Given the description of an element on the screen output the (x, y) to click on. 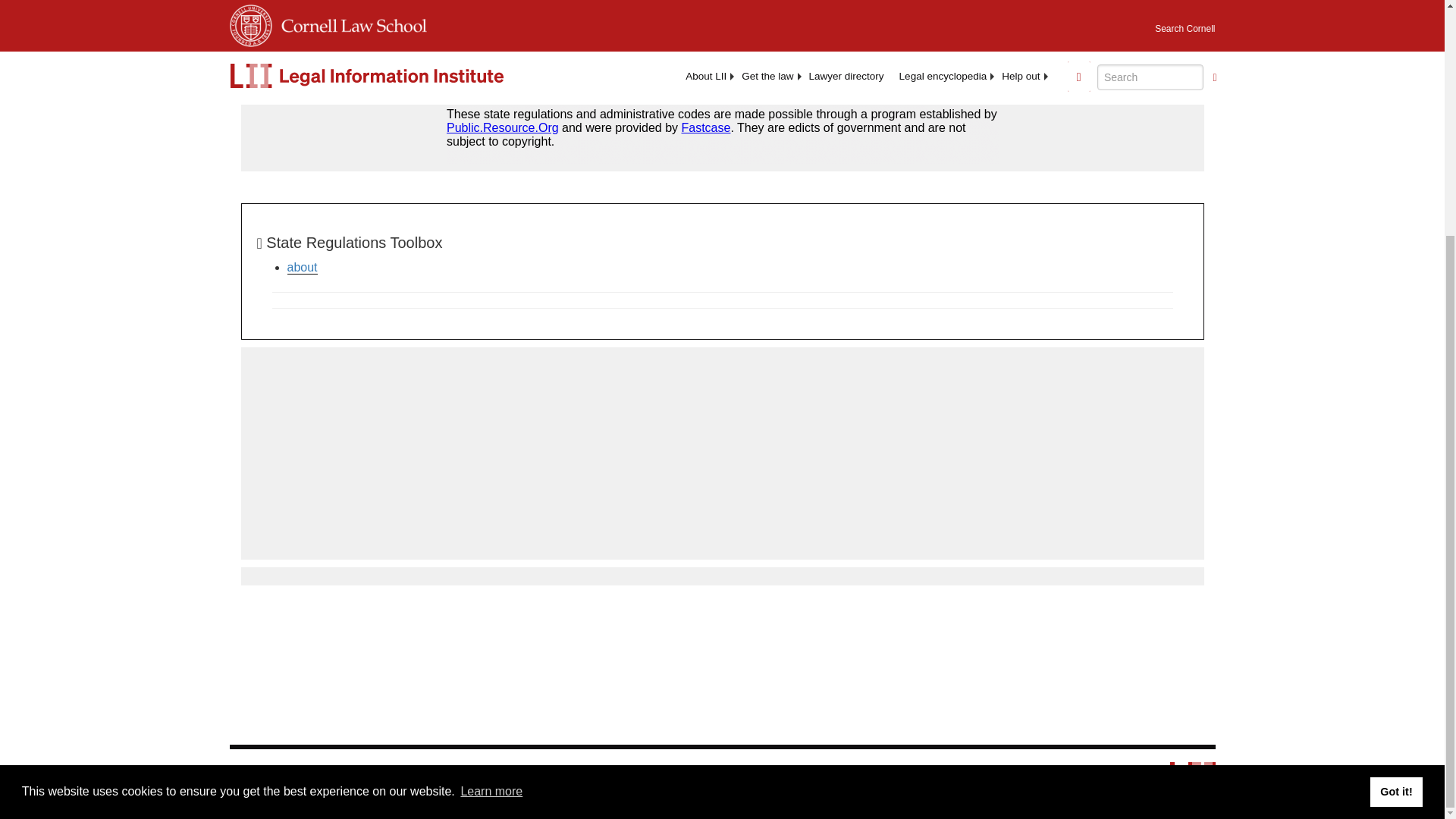
3rd party ad content (721, 129)
Learn more (491, 469)
Got it! (1396, 470)
3rd party ad content (721, 453)
Powers of Commission (289, 47)
